Given the description of an element on the screen output the (x, y) to click on. 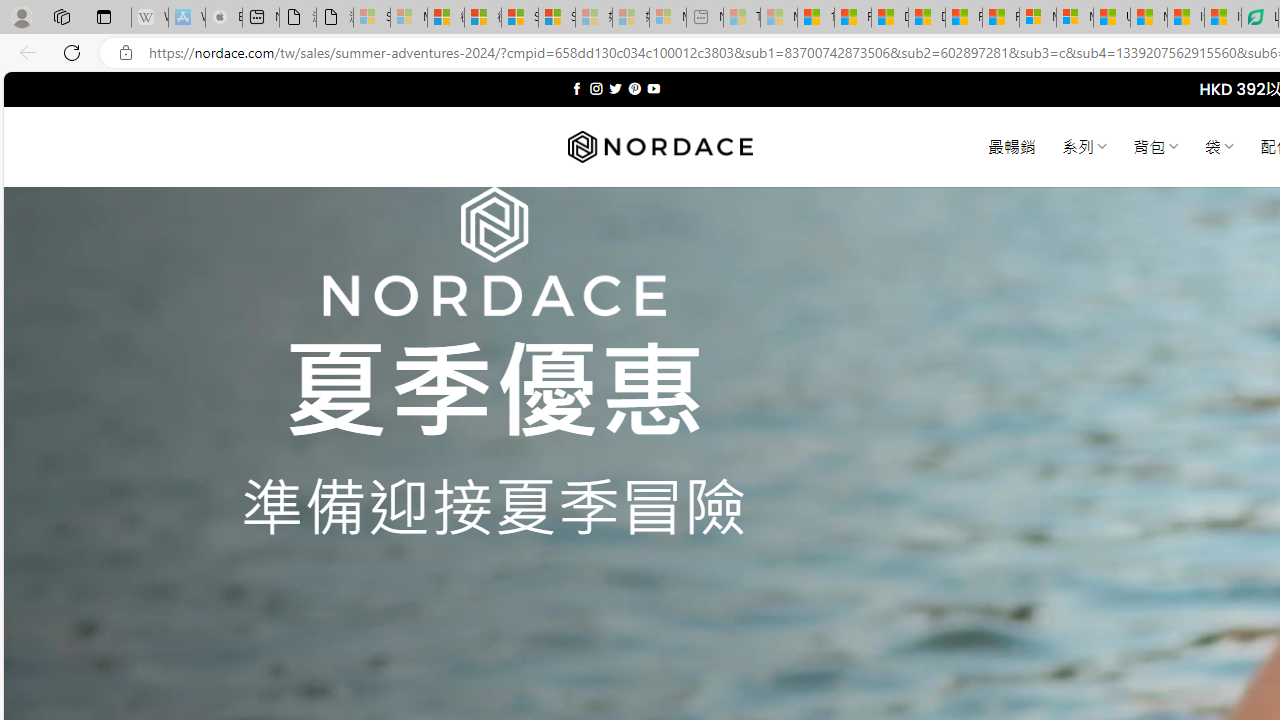
US Heat Deaths Soared To Record High Last Year (1112, 17)
Wikipedia - Sleeping (149, 17)
Follow on Pinterest (634, 88)
Marine life - MSN - Sleeping (779, 17)
Follow on Facebook (576, 88)
Follow on Instagram (596, 88)
